Given the description of an element on the screen output the (x, y) to click on. 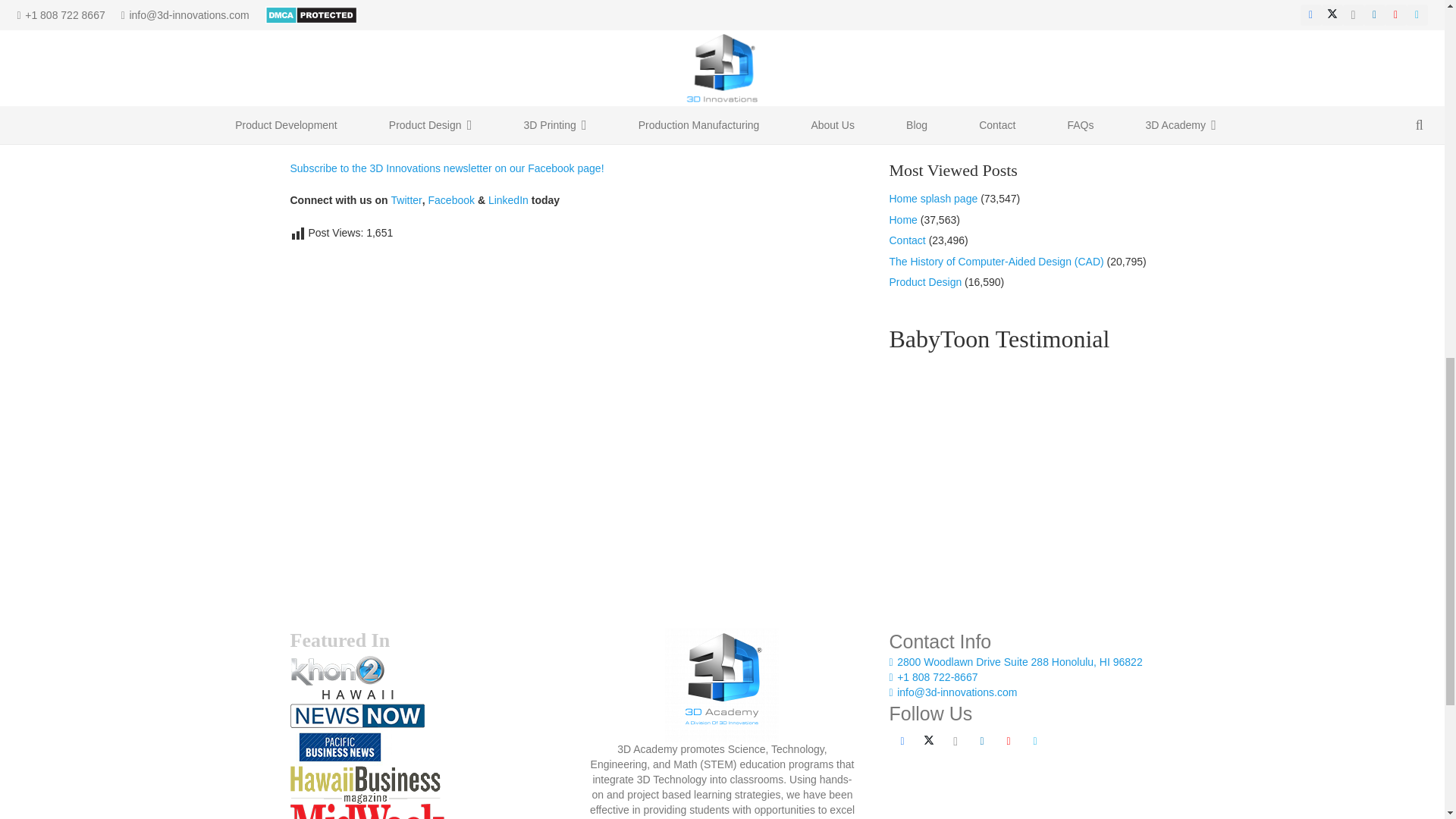
3D Innovations (324, 135)
LinkedIn (507, 200)
Facebook (901, 741)
Twitter (406, 200)
Facebook (451, 200)
